Given the description of an element on the screen output the (x, y) to click on. 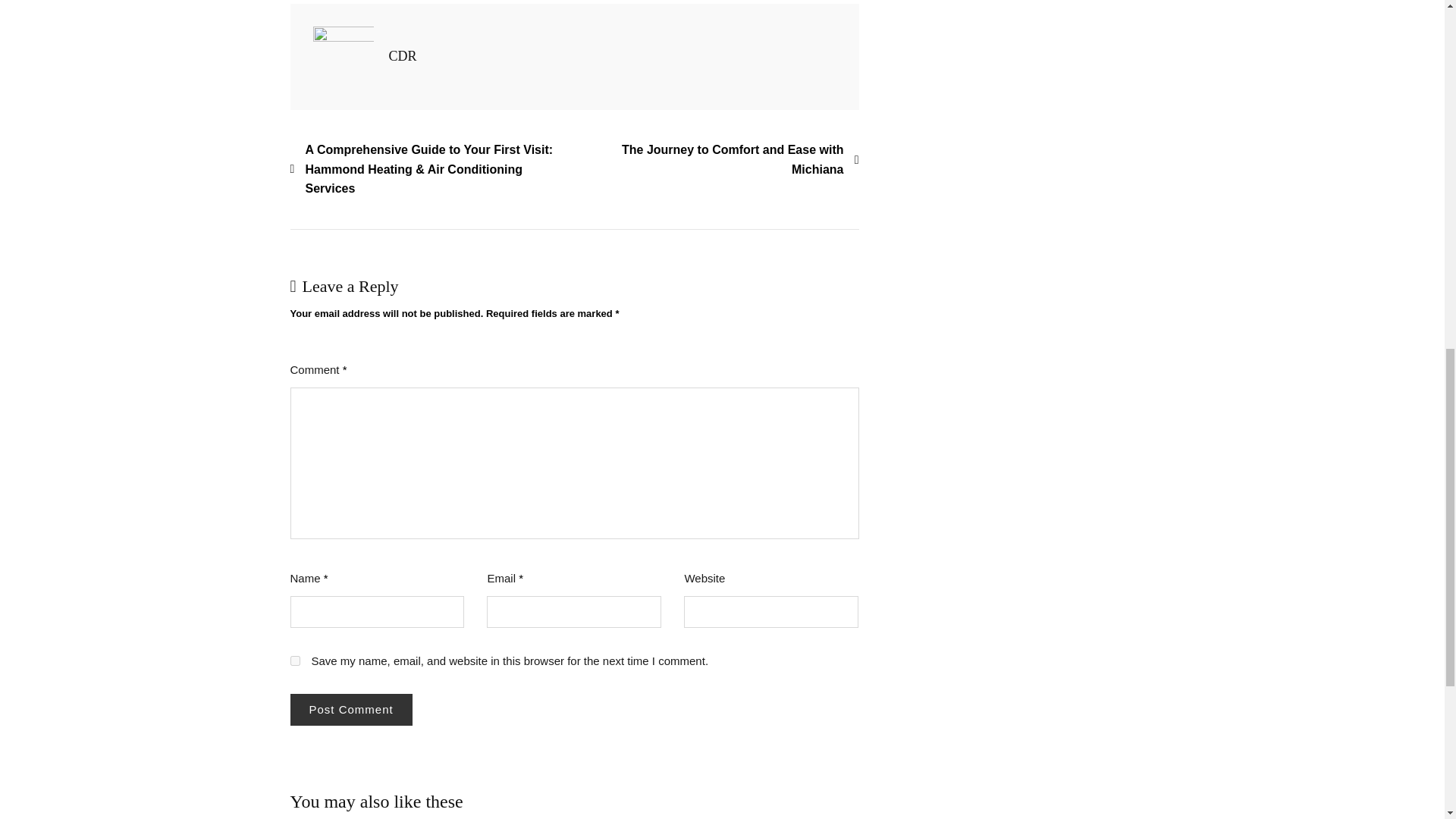
The Journey to Comfort and Ease with Michiana (717, 159)
CDR (402, 55)
yes (294, 660)
Post Comment (350, 708)
Post Comment (350, 708)
